Given the description of an element on the screen output the (x, y) to click on. 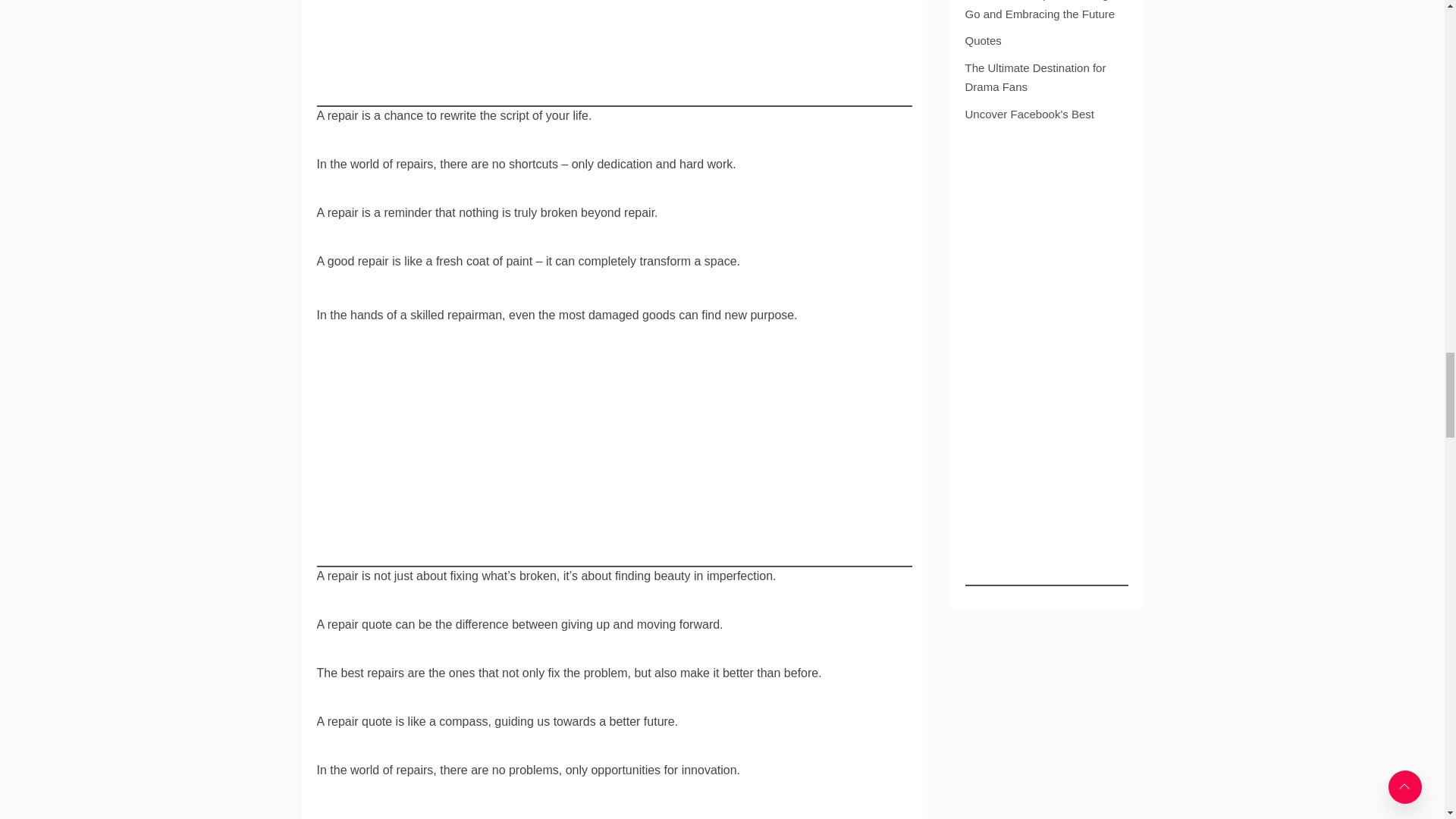
Advertisement (614, 53)
